Given the description of an element on the screen output the (x, y) to click on. 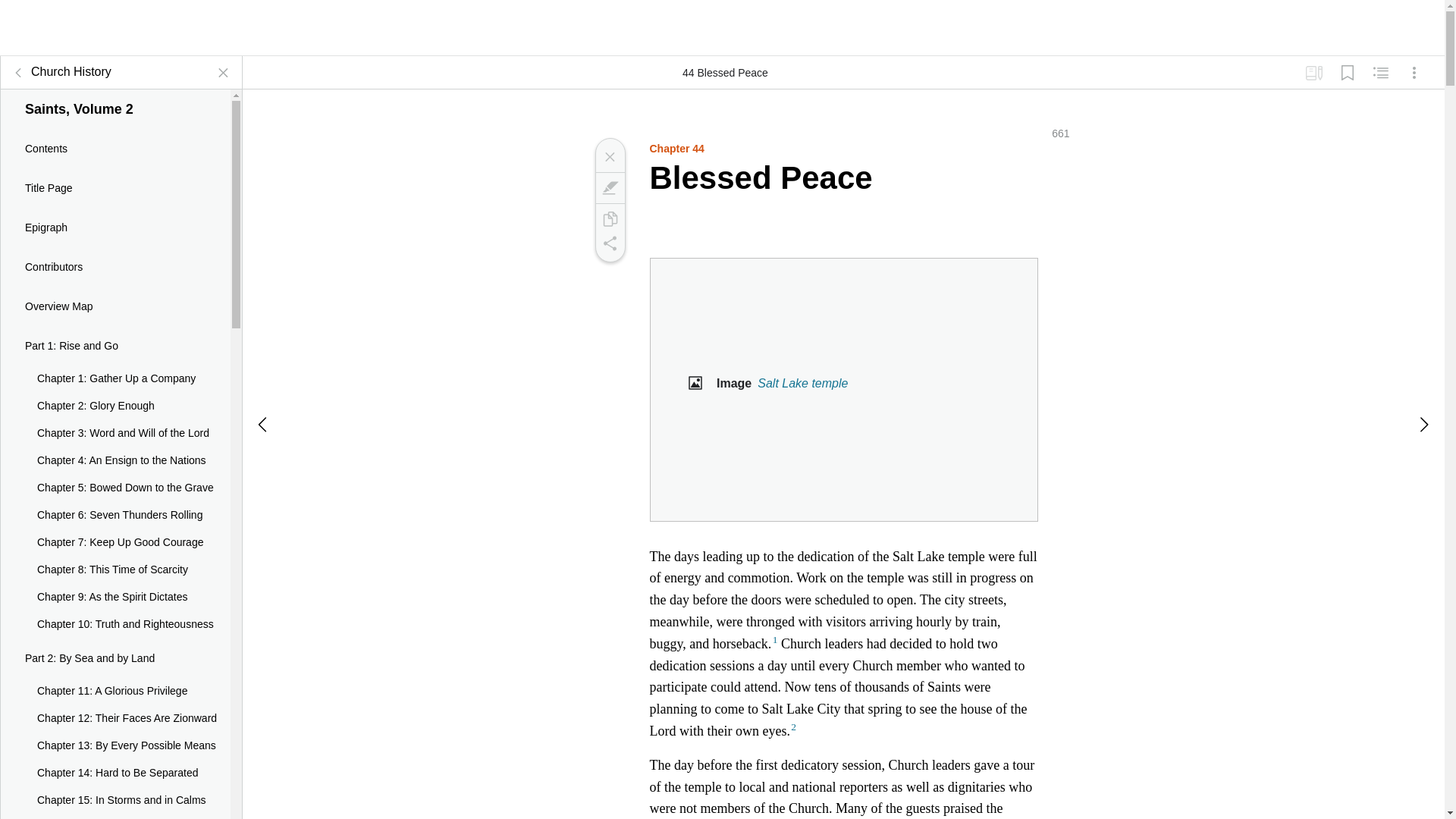
Chapter 12: Their Faces Are Zionward (115, 718)
Mark (608, 187)
Chapter 15: In Storms and in Calms (115, 800)
Options (1414, 72)
Chapter 10: Truth and Righteousness (115, 624)
Chapter 13: By Every Possible Means (115, 746)
Chapter 6: Seven Thunders Rolling (115, 515)
Chapter 4: An Ensign to the Nations (115, 461)
Chapter 11: A Glorious Privilege (115, 691)
Epigraph (115, 227)
Chapter 8: This Time of Scarcity (115, 569)
Chapter 16: Not Doubting nor Despairing (115, 816)
Overview Map (115, 305)
Close (608, 156)
Copy (608, 218)
